Given the description of an element on the screen output the (x, y) to click on. 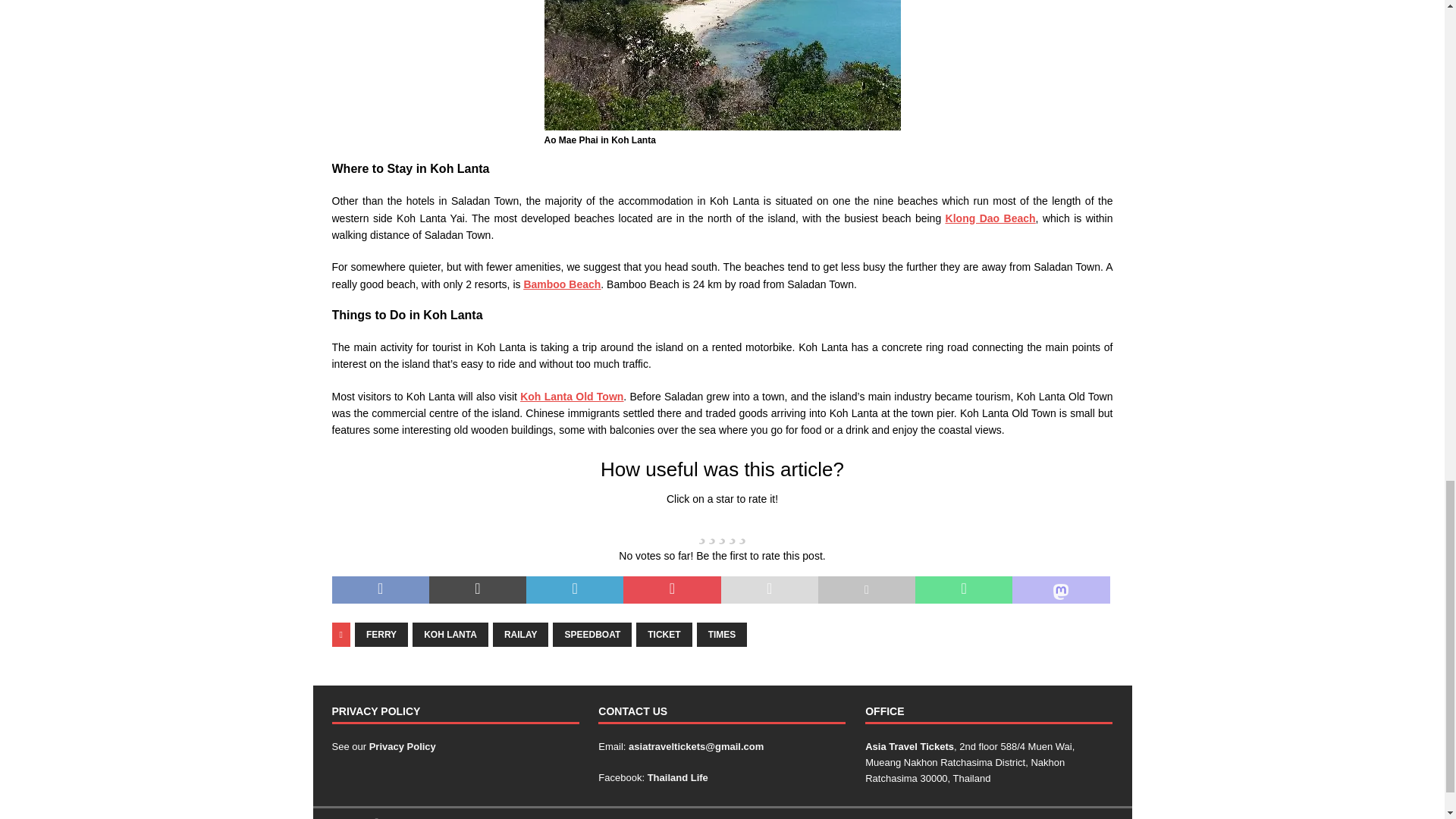
Pin This Post (671, 589)
Print this article (866, 589)
Share on LinkedIn (574, 589)
Read more about Klong Dao Beach (989, 218)
Share on Whatsapp (963, 589)
Send this article to a friend (769, 589)
Read more about Koh Lanta Old Town (571, 396)
Tweet This Post (477, 589)
Share on Facebook (380, 589)
Read more about Bamboo Beach (560, 284)
